Given the description of an element on the screen output the (x, y) to click on. 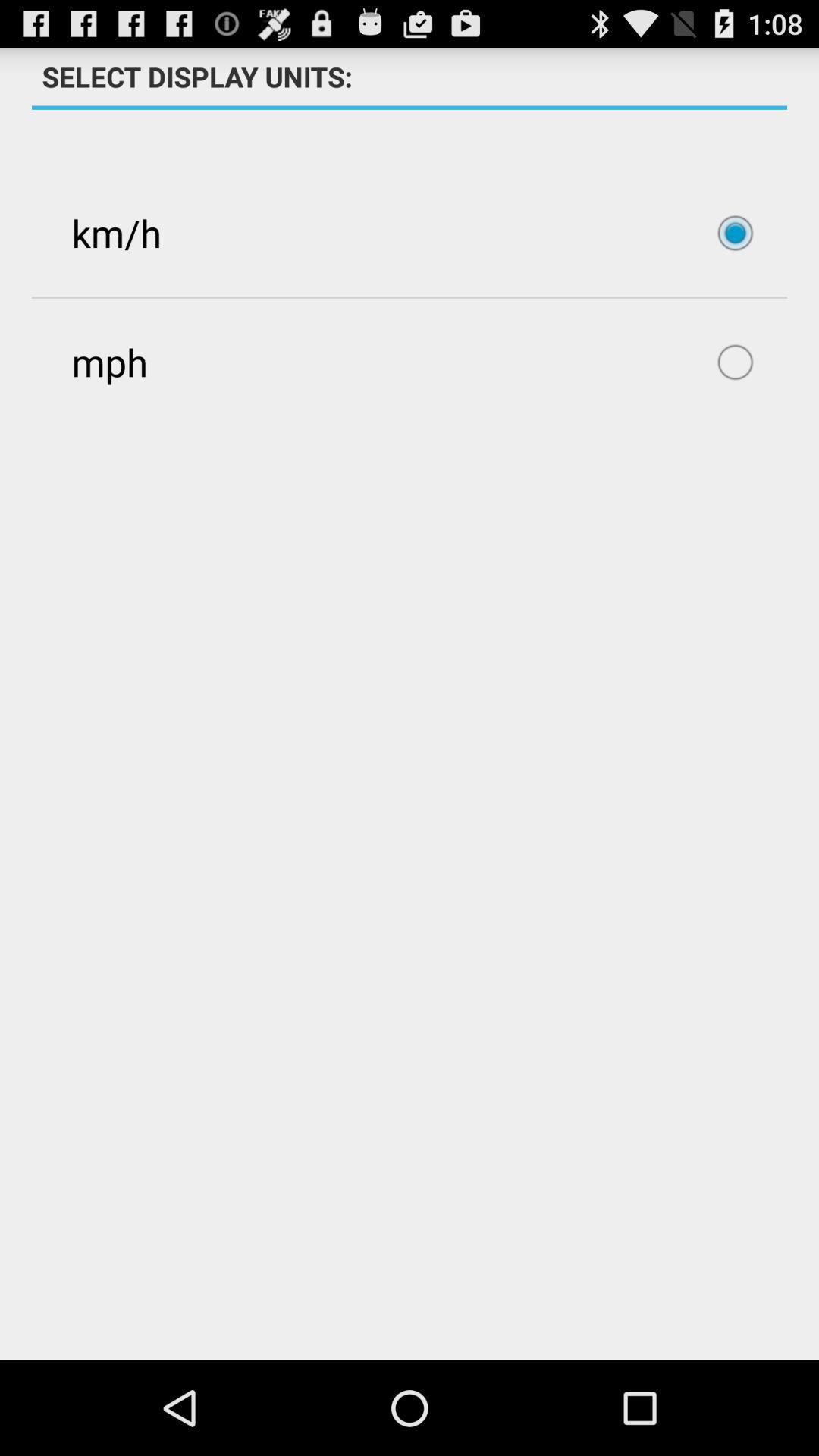
swipe until the km/h item (409, 232)
